Given the description of an element on the screen output the (x, y) to click on. 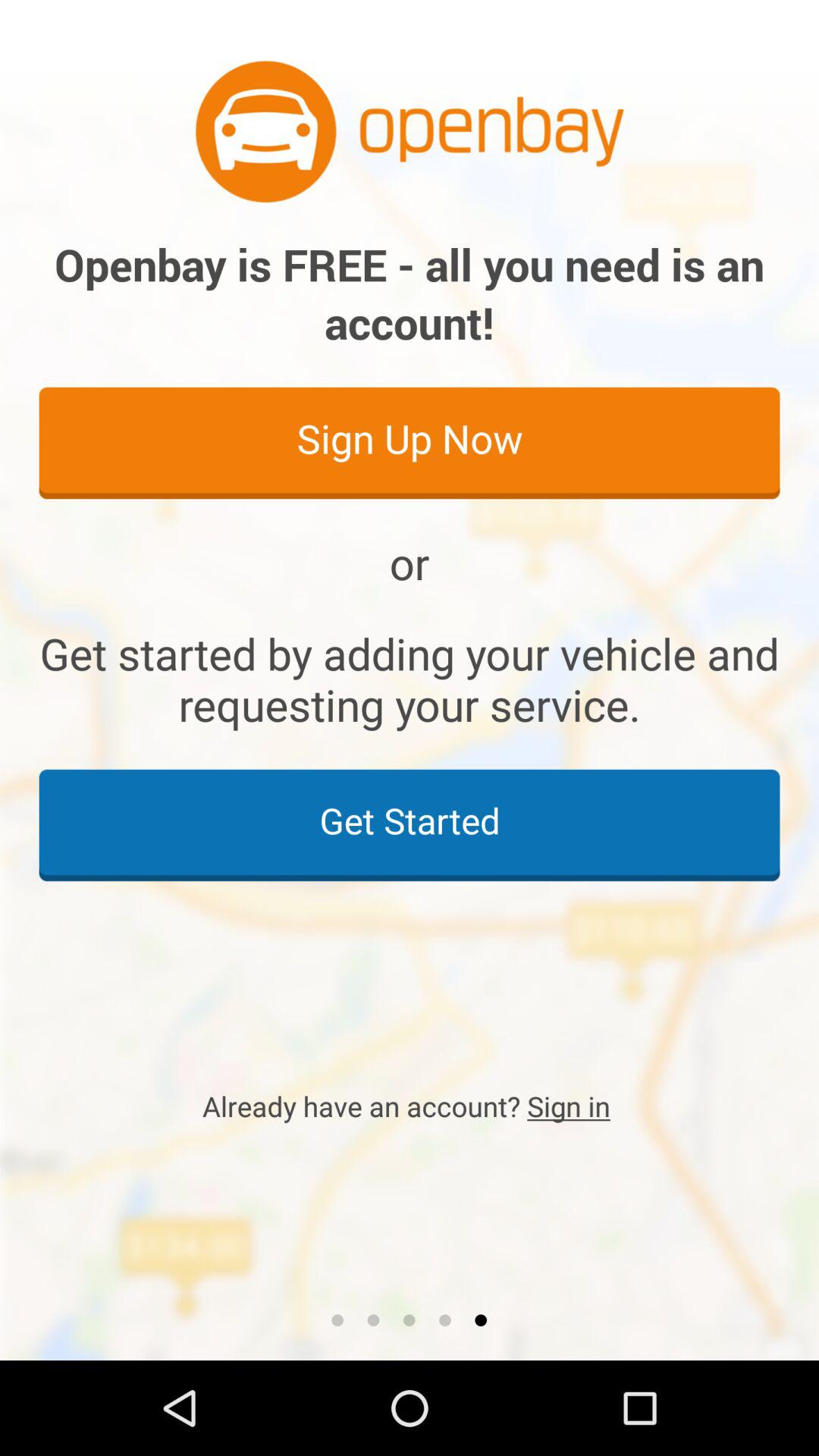
turn on item above the or icon (409, 442)
